Given the description of an element on the screen output the (x, y) to click on. 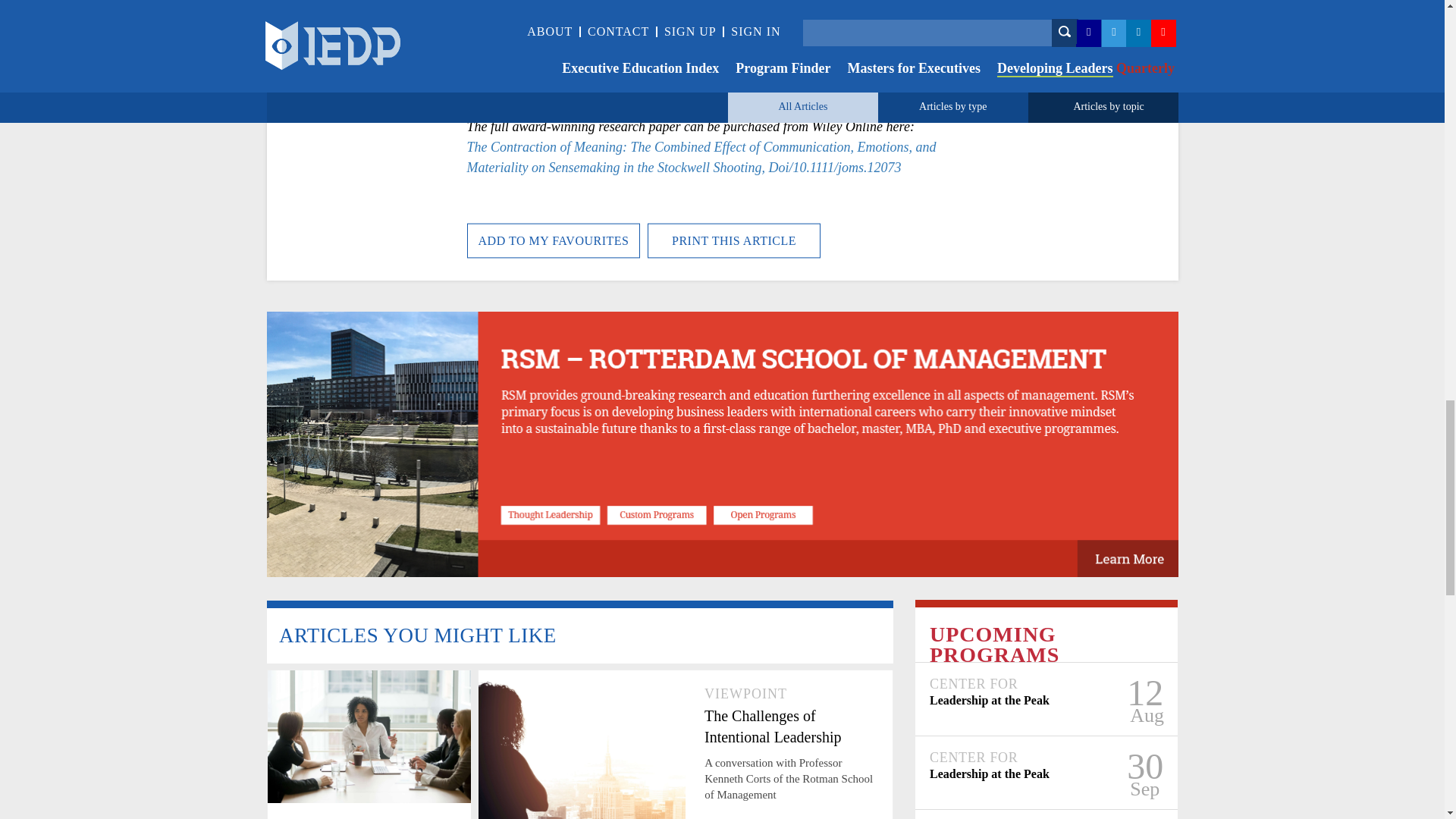
The Challenges of Intentional Leadership (788, 726)
